Given the description of an element on the screen output the (x, y) to click on. 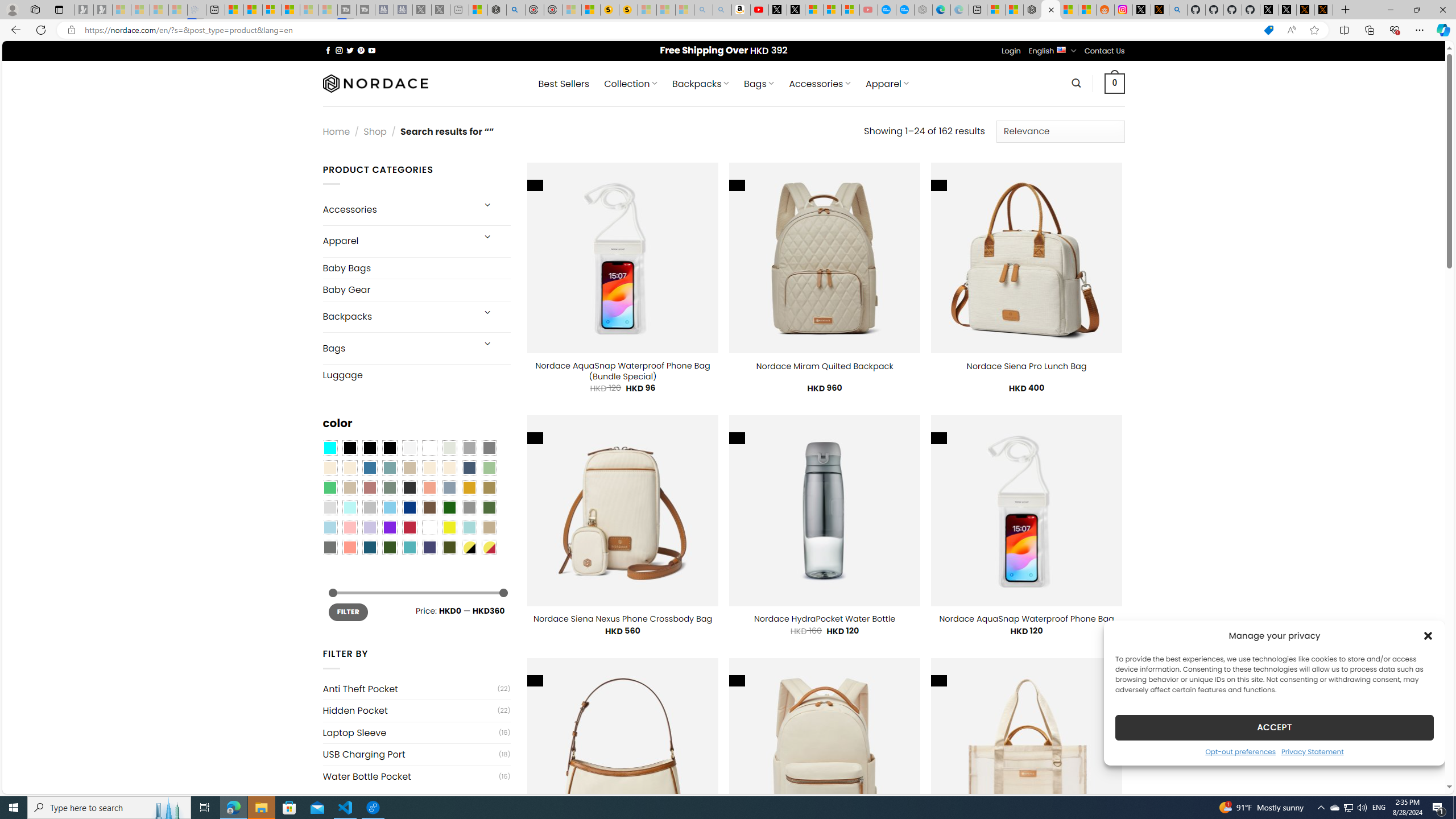
Gray (468, 507)
 Best Sellers (563, 83)
Light Purple (369, 527)
Nordace - Nordace has arrived Hong Kong - Sleeping (923, 9)
Luggage (416, 374)
ACCEPT (1274, 727)
Baby Gear (416, 289)
Army Green (449, 547)
Nordace (374, 83)
Restore (1416, 9)
